Given the description of an element on the screen output the (x, y) to click on. 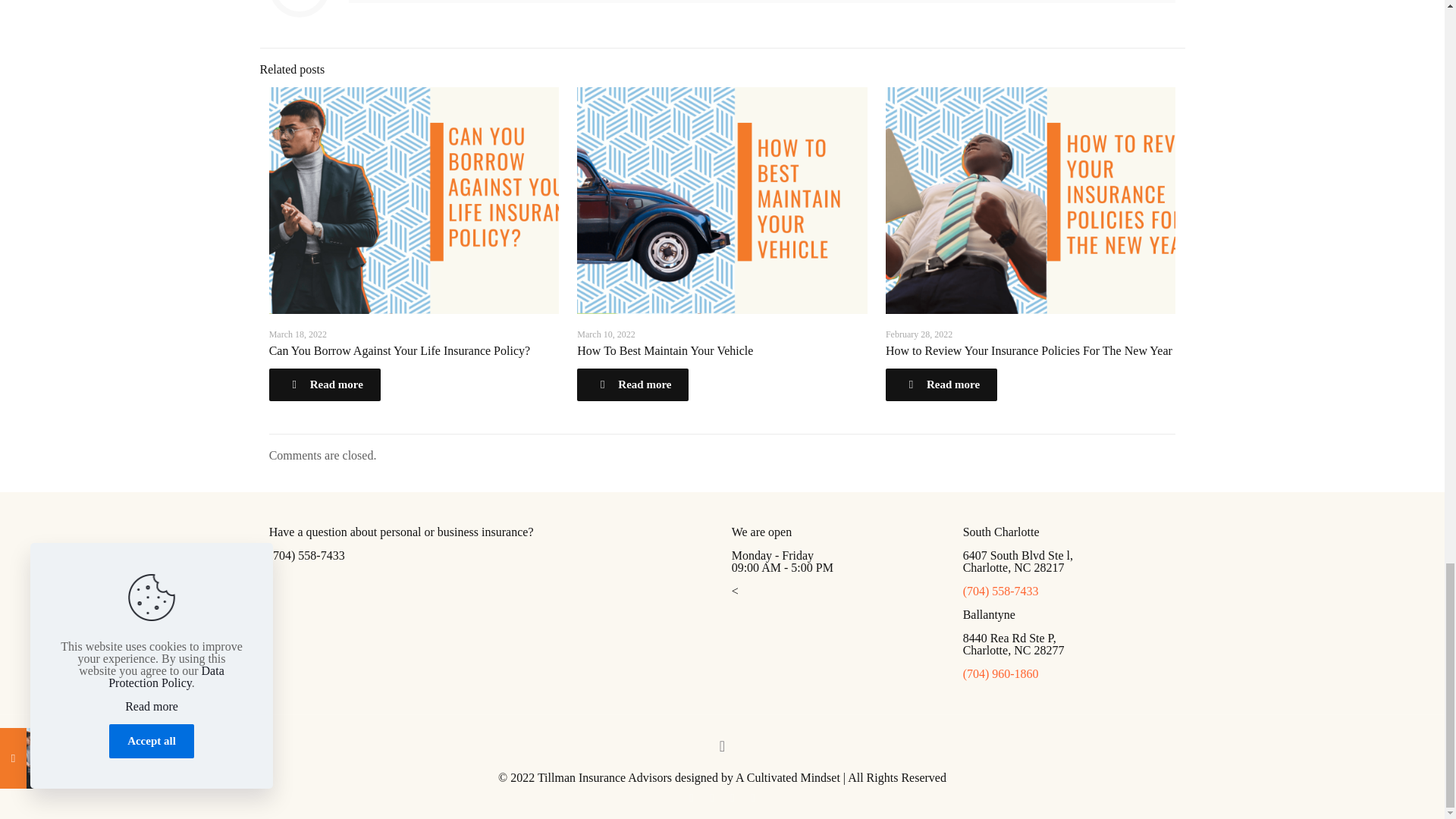
Instagram (752, 797)
Facebook (690, 797)
YouTube (711, 797)
LinkedIn (731, 797)
